Given the description of an element on the screen output the (x, y) to click on. 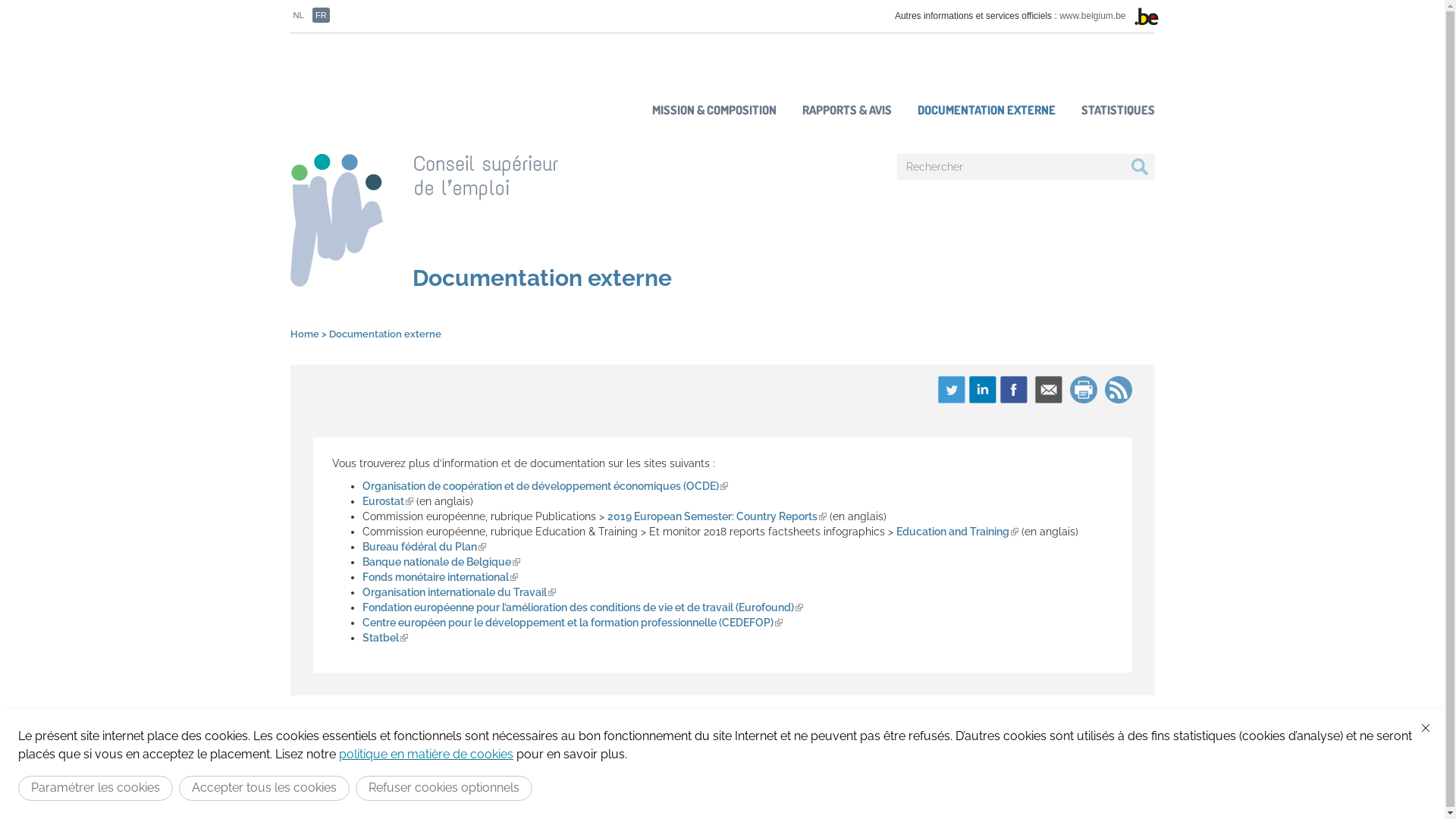
rss Element type: text (1117, 389)
Banque nationale de Belgique
(link is external) Element type: text (441, 561)
Eurostat
(link is external) Element type: text (387, 501)
facebook Element type: hover (1012, 389)
Enter the terms you wish to search for. Element type: hover (1010, 166)
Statbel
(link is external) Element type: text (384, 637)
NL Element type: text (297, 14)
DOCUMENTATION EXTERNE Element type: text (985, 110)
Education and Training
(link is external) Element type: text (957, 531)
email Element type: hover (1047, 389)
Organisation internationale du Travail
(link is external) Element type: text (458, 592)
twitter Element type: hover (950, 389)
Rechercher Element type: text (1138, 166)
Aller au contenu principal Element type: text (63, 0)
linkedin Element type: hover (982, 389)
MISSION & COMPOSITION Element type: text (713, 110)
Refuser cookies optionnels Element type: text (443, 787)
Home Element type: text (304, 333)
Rechercher Element type: text (934, 184)
FR Element type: text (320, 14)
Accueil Element type: hover (423, 217)
2019 European Semester: Country Reports
(link is external) Element type: text (715, 516)
Contact Element type: text (614, 757)
Printer-friendly version Element type: text (1082, 389)
STATISTIQUES Element type: text (1111, 110)
Accepter tous les cookies Element type: text (263, 787)
RAPPORTS & AVIS Element type: text (846, 110)
Fermer Element type: hover (1425, 727)
www.belgium.be Element type: text (1092, 15)
Conditions d'utilisation Element type: text (919, 757)
